Given the description of an element on the screen output the (x, y) to click on. 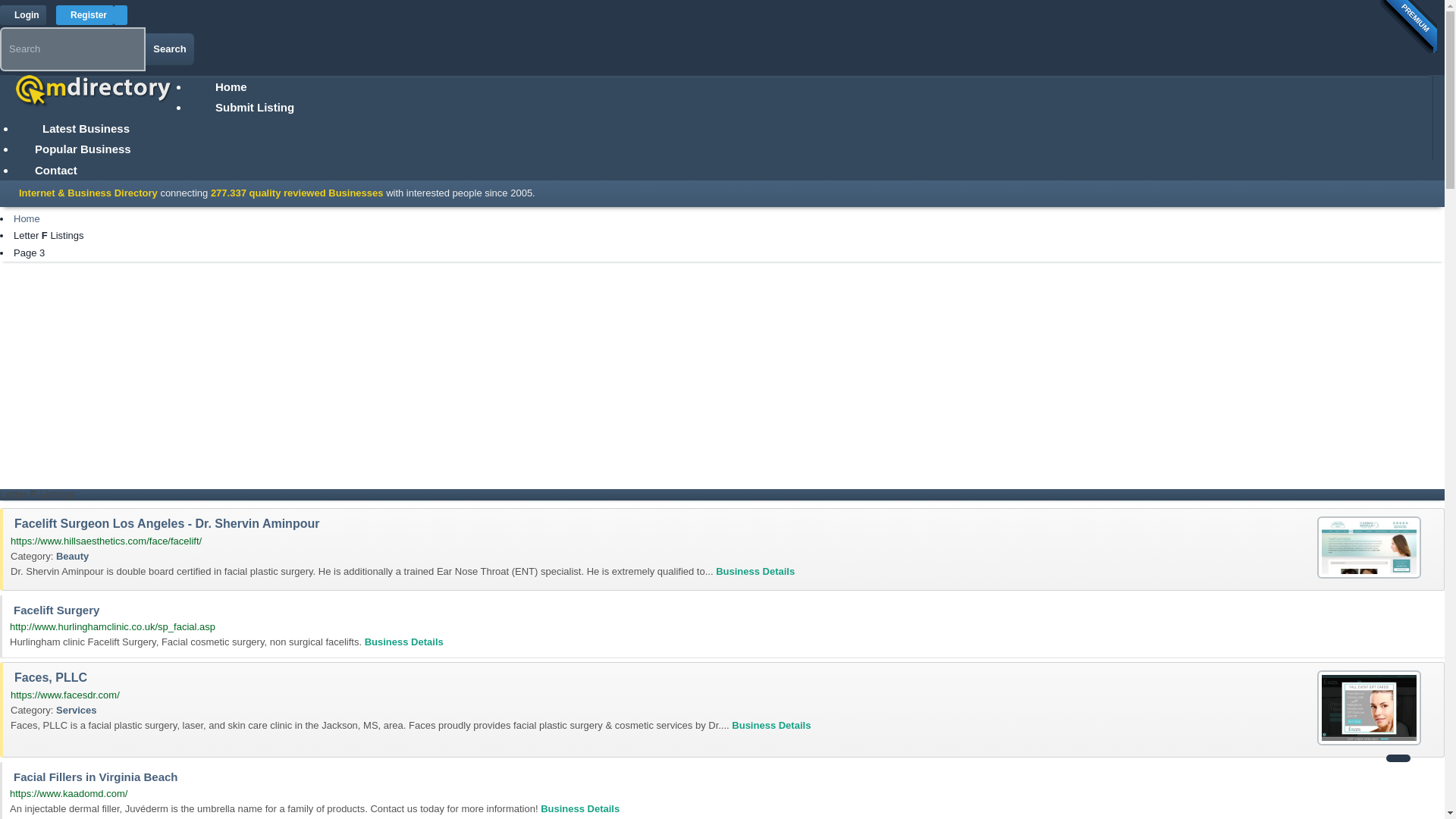
Beauty (72, 555)
Business Details (404, 641)
Register new user (84, 14)
Search (169, 49)
Services (76, 709)
Contact (56, 170)
Register (84, 14)
Popular Business (82, 149)
More about: Facelift Surgery (404, 641)
Faces, PLLC (1369, 707)
More about: Faces, PLLC (771, 725)
Business Details (580, 808)
